Given the description of an element on the screen output the (x, y) to click on. 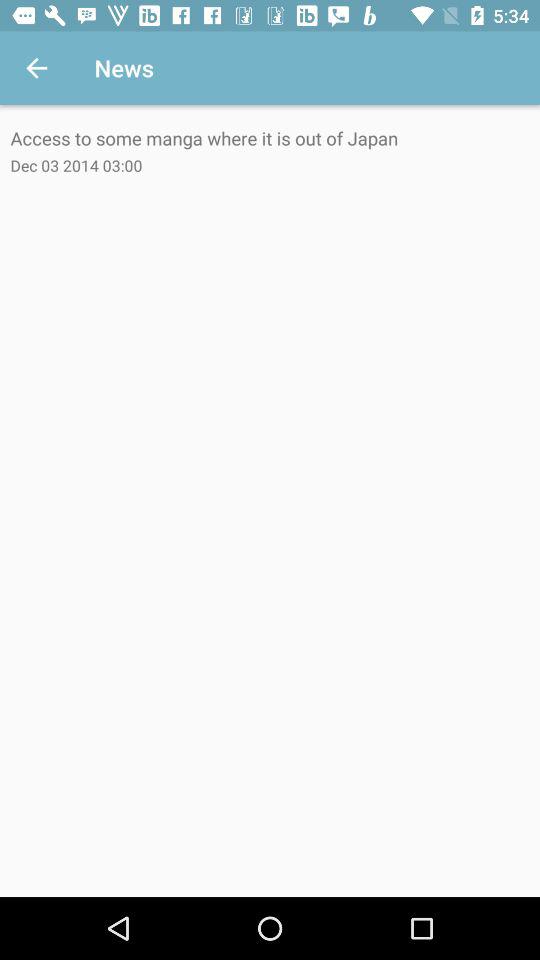
click icon next to news icon (36, 68)
